Given the description of an element on the screen output the (x, y) to click on. 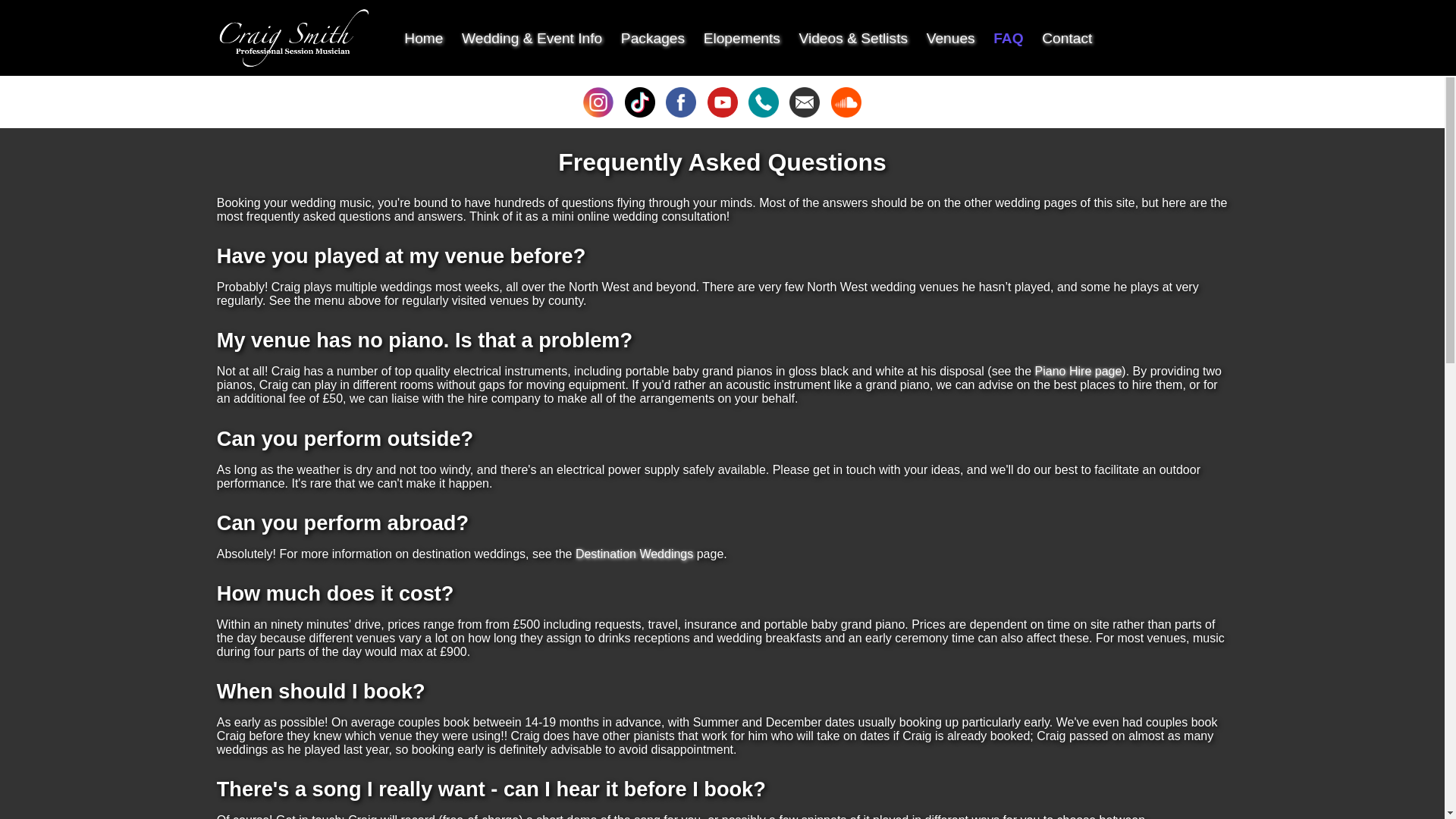
Home (423, 37)
contact Craig (1067, 37)
Piano Hire page (1078, 370)
Phone Craig... (763, 113)
Email Craig... (804, 113)
Wedding Music Frequently Asked Questions (1007, 37)
About Craig (423, 37)
Venues (950, 37)
Home (293, 37)
Videos: videos of Craig performing... (721, 113)
